Given the description of an element on the screen output the (x, y) to click on. 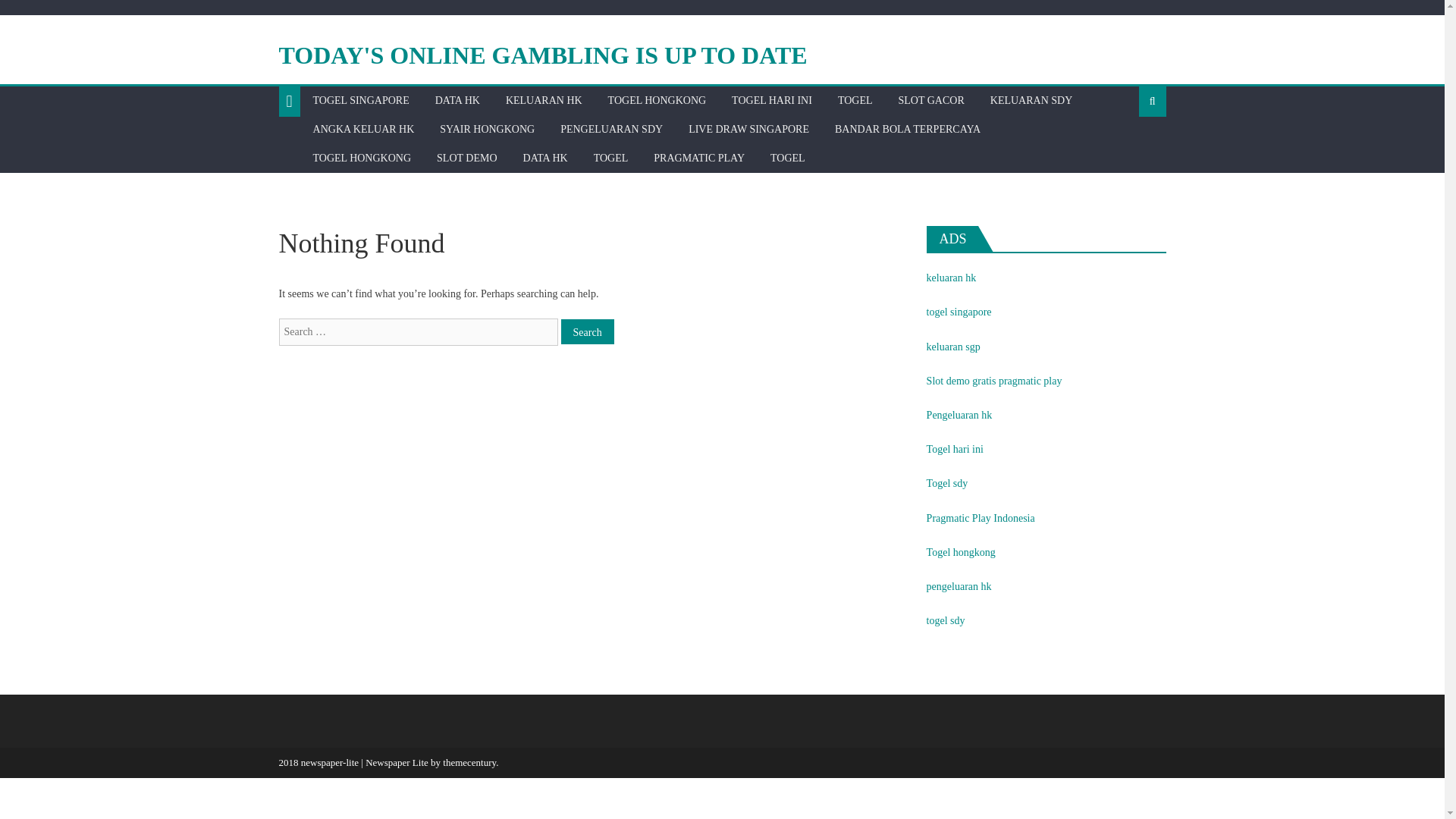
Pragmatic Play Indonesia (980, 518)
LIVE DRAW SINGAPORE (749, 129)
Search (587, 331)
togel sdy (945, 620)
TOGEL HARI INI (772, 100)
Search (587, 331)
DATA HK (457, 100)
PRAGMATIC PLAY (698, 158)
Pengeluaran hk (959, 414)
keluaran hk (951, 277)
keluaran sgp (952, 346)
TOGEL (787, 158)
Slot demo gratis pragmatic play (994, 380)
TOGEL SINGAPORE (360, 100)
TOGEL HONGKONG (362, 158)
